Given the description of an element on the screen output the (x, y) to click on. 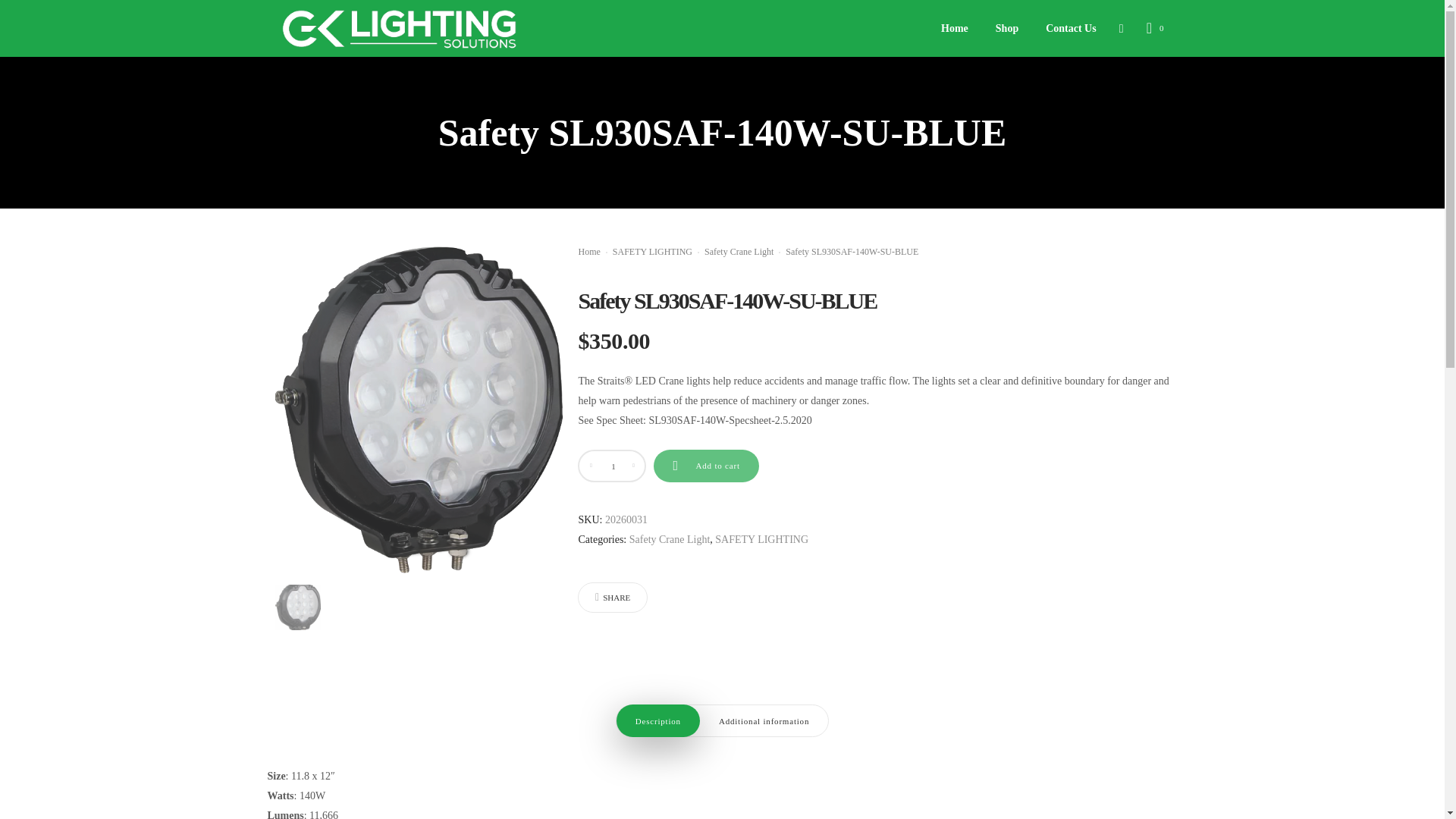
1 (613, 465)
Site logo (397, 28)
Home (954, 28)
SL930SAF-Main-Pic (296, 606)
Shop (1006, 28)
